Given the description of an element on the screen output the (x, y) to click on. 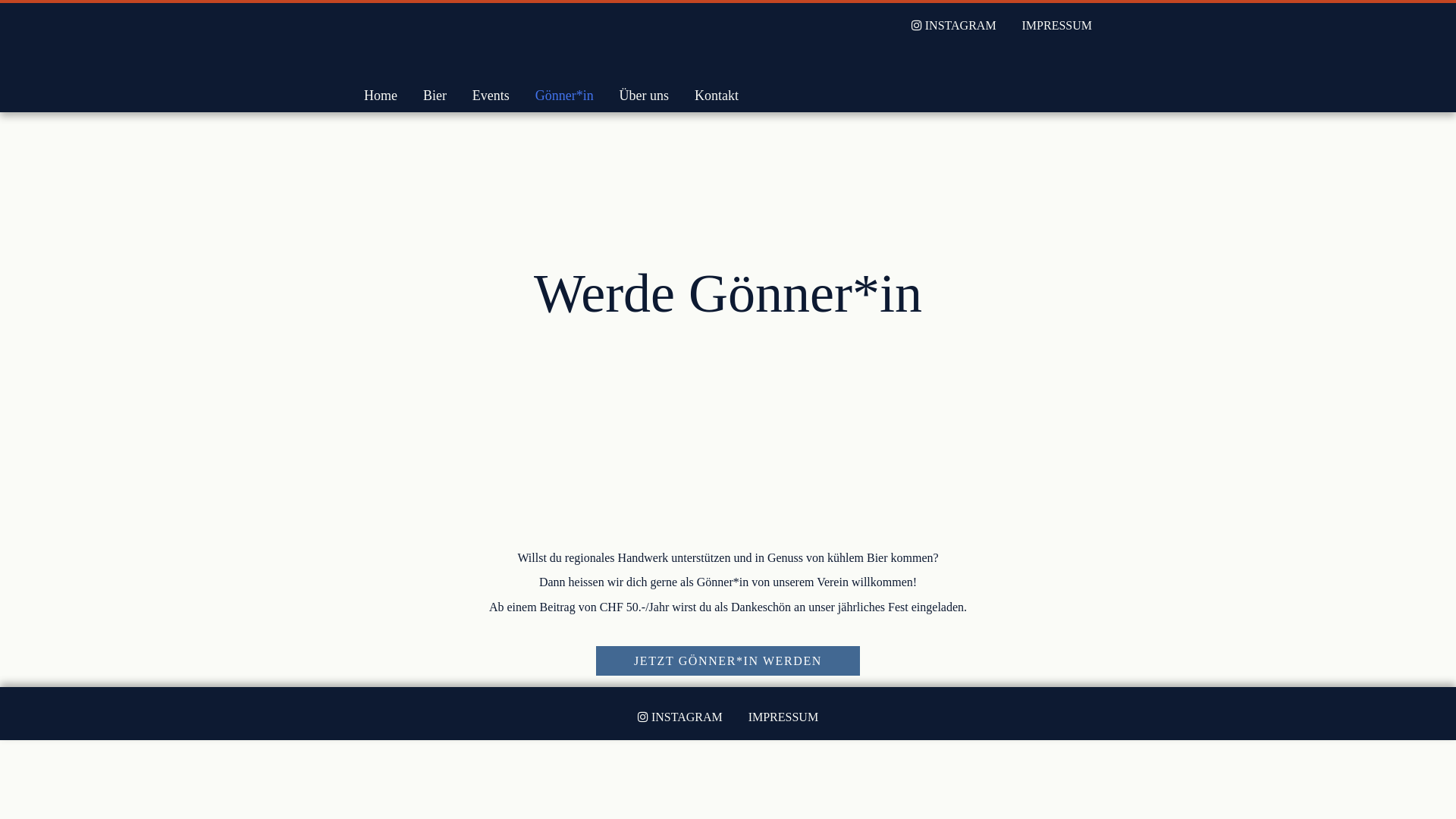
Bier Element type: text (434, 95)
INSTAGRAM Element type: text (679, 716)
Kontakt Element type: text (716, 95)
Events Element type: text (490, 95)
IMPRESSUM Element type: text (1057, 24)
IMPRESSUM Element type: text (783, 716)
Home Element type: text (380, 95)
INSTAGRAM Element type: text (953, 24)
